Given the description of an element on the screen output the (x, y) to click on. 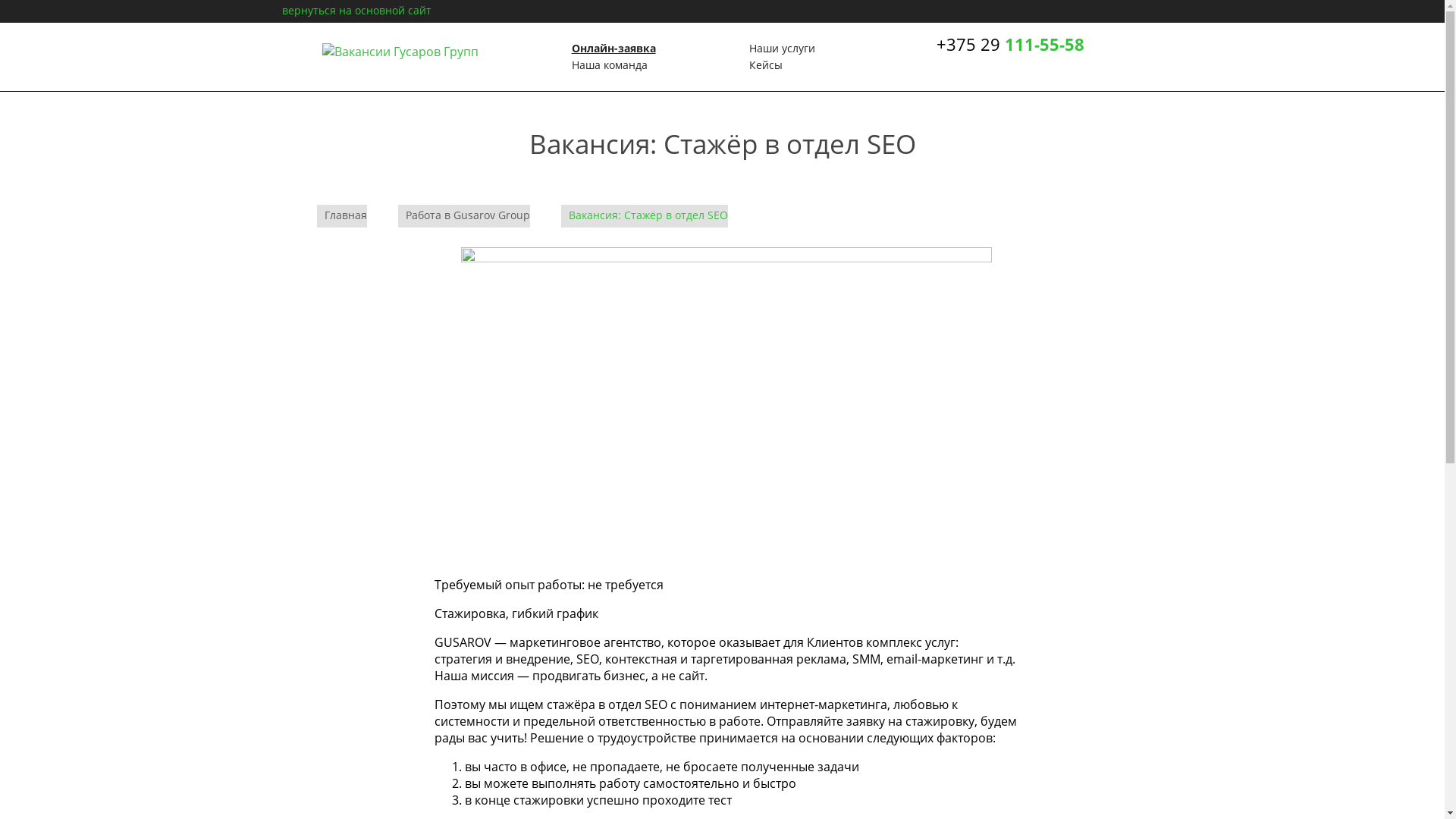
+375 29 111-55-58 Element type: text (1010, 43)
